Given the description of an element on the screen output the (x, y) to click on. 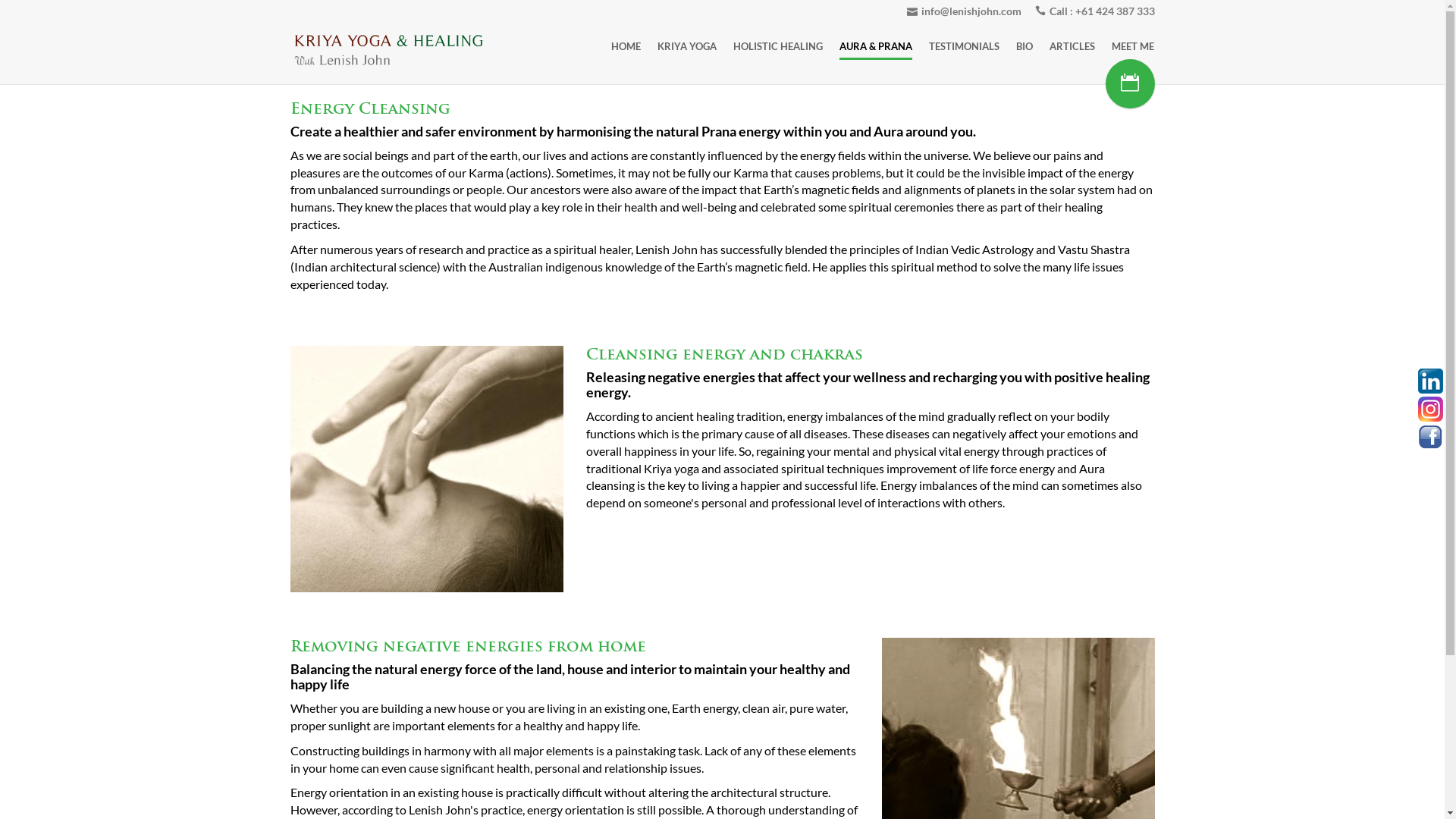
MEET ME Element type: text (1132, 46)
BIO Element type: text (1024, 46)
HOME Element type: text (625, 46)
TESTIMONIALS Element type: text (963, 46)
ARTICLES Element type: text (1072, 46)
HOLISTIC HEALING Element type: text (777, 46)
AURA & PRANA Element type: text (875, 46)
Make an Appointment Element type: hover (1129, 82)
KRIYA YOGA Element type: text (686, 46)
spiritual healing melbourne Element type: hover (425, 468)
info@lenishjohn.com Element type: text (963, 10)
